Given the description of an element on the screen output the (x, y) to click on. 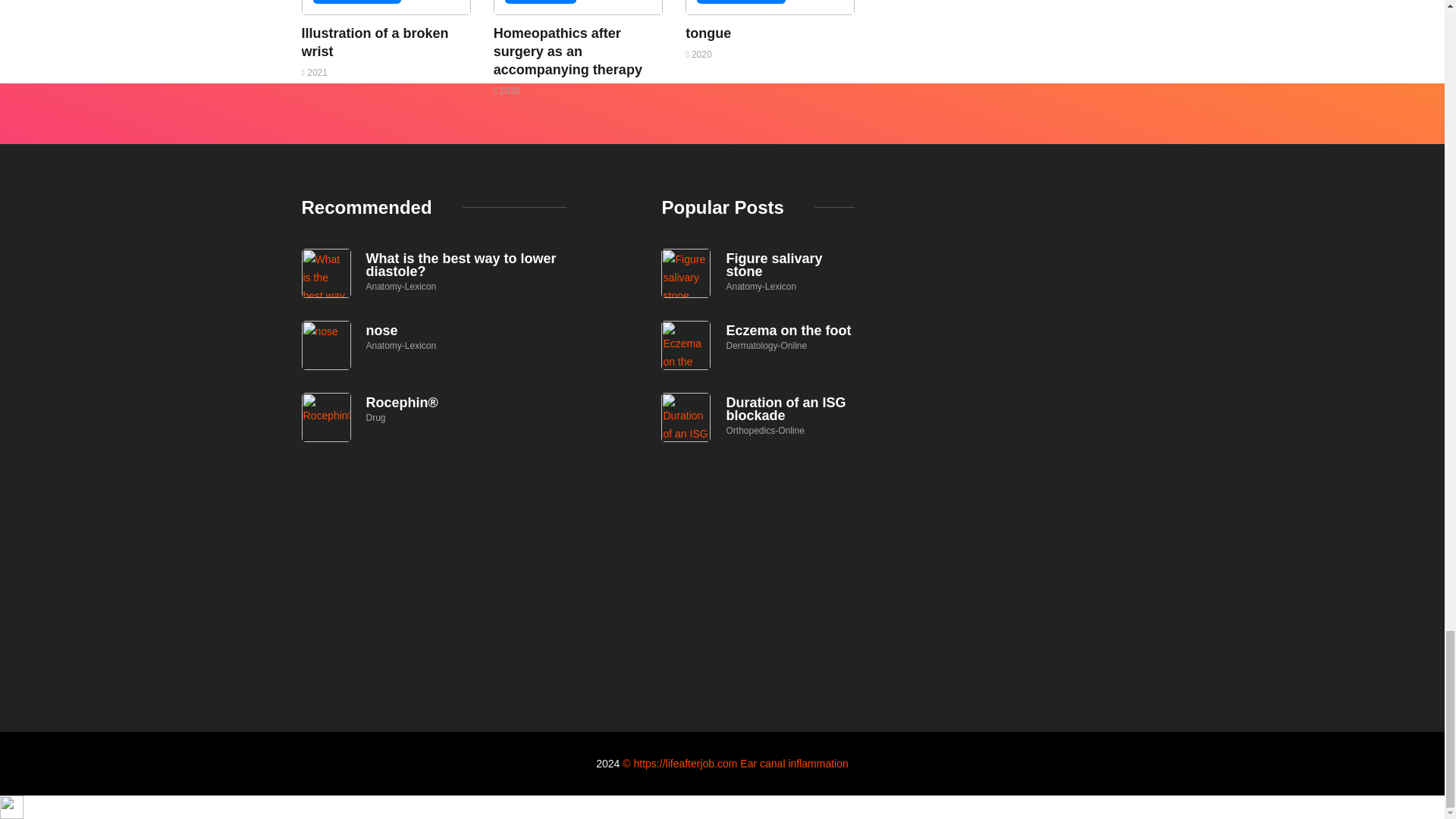
ANATOMY-LEXICON (741, 2)
Illustration of a broken wrist (374, 41)
NATUROPATHY (540, 2)
tongue (707, 32)
ANATOMY-LEXICON (357, 2)
Homeopathics after surgery as an accompanying therapy (567, 50)
